Given the description of an element on the screen output the (x, y) to click on. 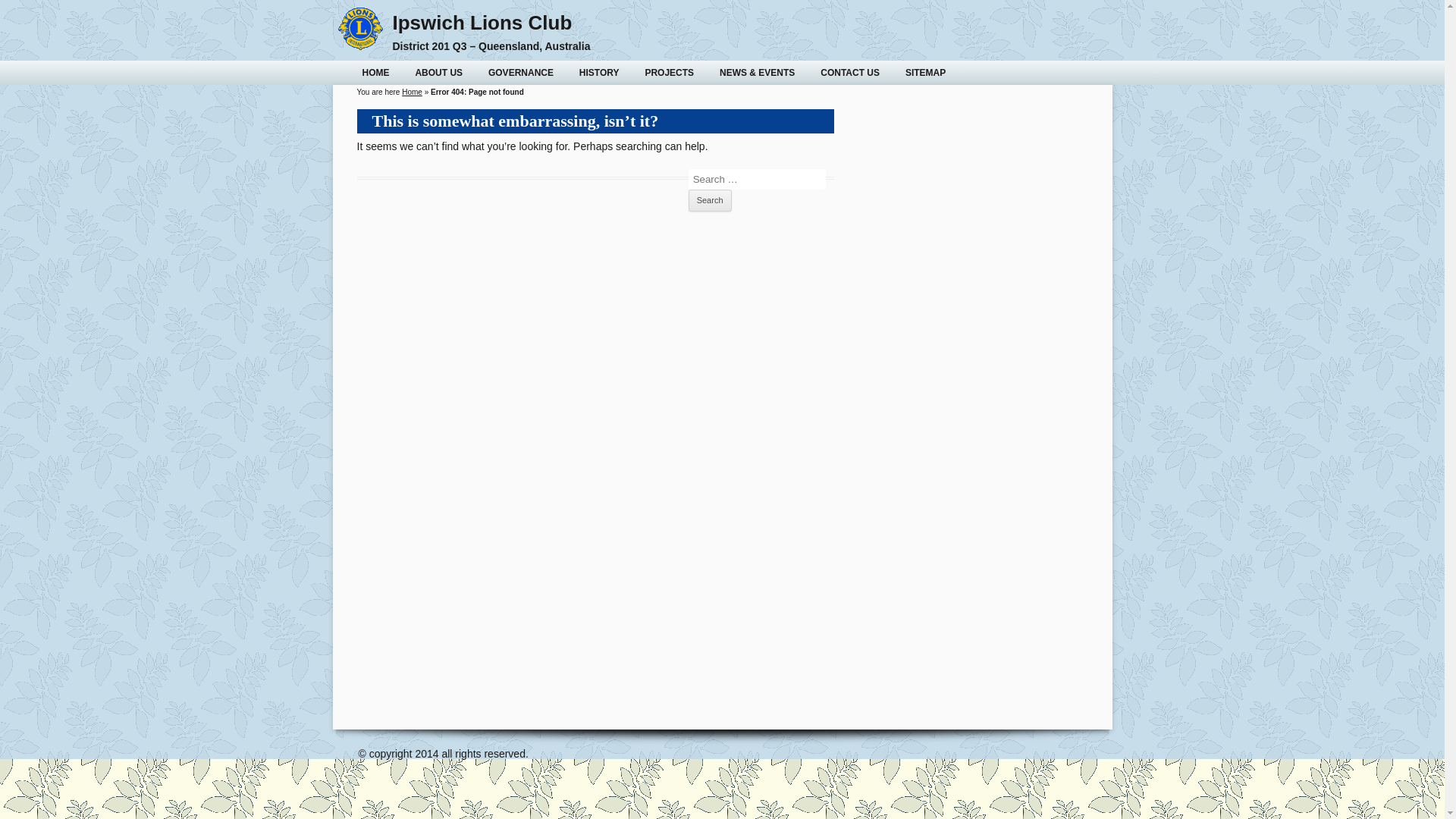
SITEMAP Element type: text (925, 72)
HOME Element type: text (374, 72)
CONTACT US Element type: text (849, 72)
Skip to content Element type: text (756, 65)
Home Element type: text (411, 91)
PROJECTS Element type: text (668, 72)
NEWS & EVENTS Element type: text (756, 72)
GOVERNANCE Element type: text (520, 72)
ABOUT US Element type: text (438, 72)
Search Element type: text (709, 200)
Ipswich Lions Club Element type: text (482, 22)
HISTORY Element type: text (599, 72)
